Given the description of an element on the screen output the (x, y) to click on. 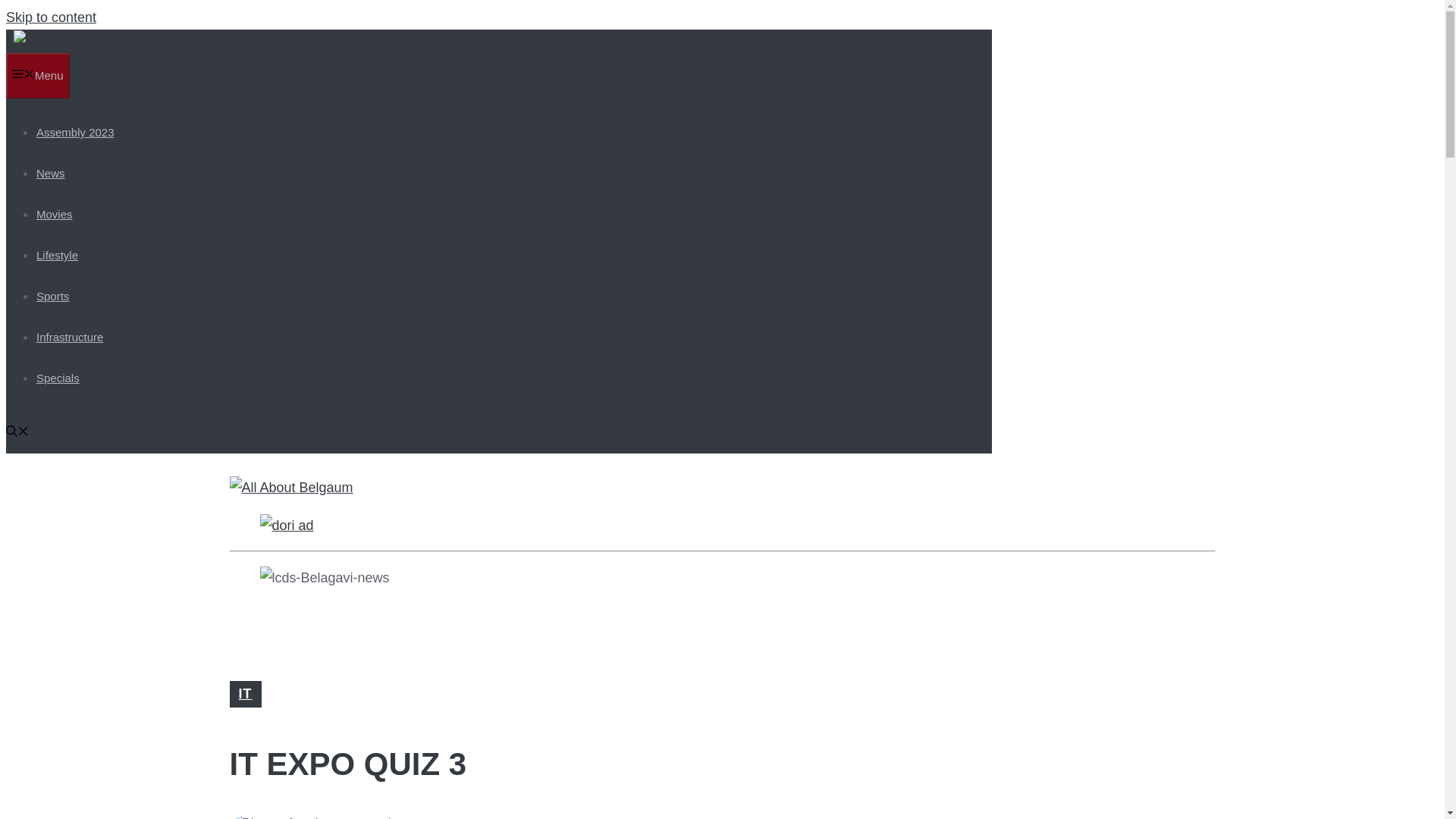
All About Belgaum (66, 42)
Movies (54, 214)
All About Belgaum (66, 41)
Specials (58, 377)
Skip to content (50, 17)
Lifestyle (57, 254)
Sports (52, 295)
News (50, 173)
IT (244, 693)
Assembly 2023 (75, 132)
